Given the description of an element on the screen output the (x, y) to click on. 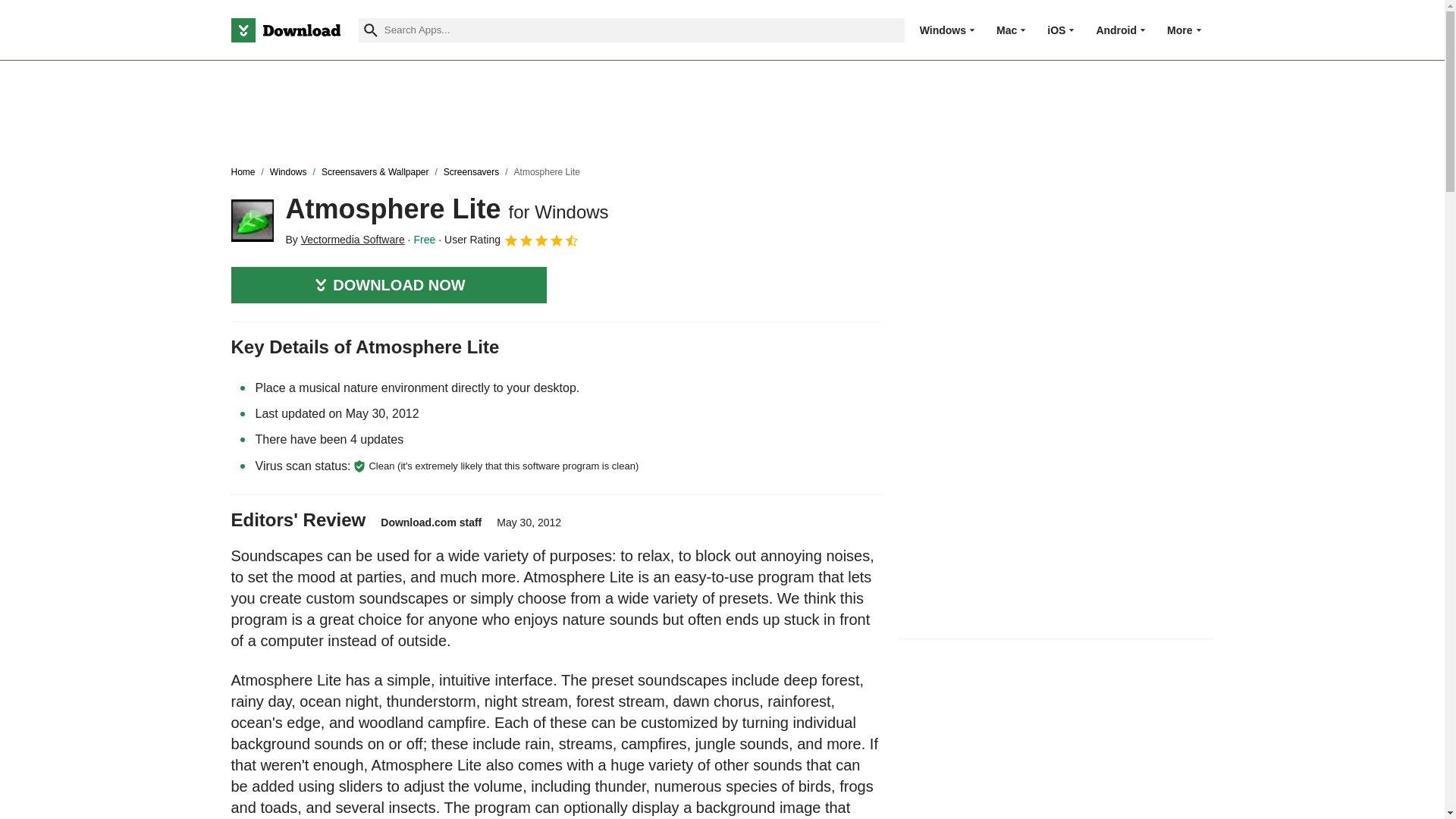
Windows (943, 29)
Atmosphere Lite for Windows (251, 220)
Mac (1005, 29)
